Given the description of an element on the screen output the (x, y) to click on. 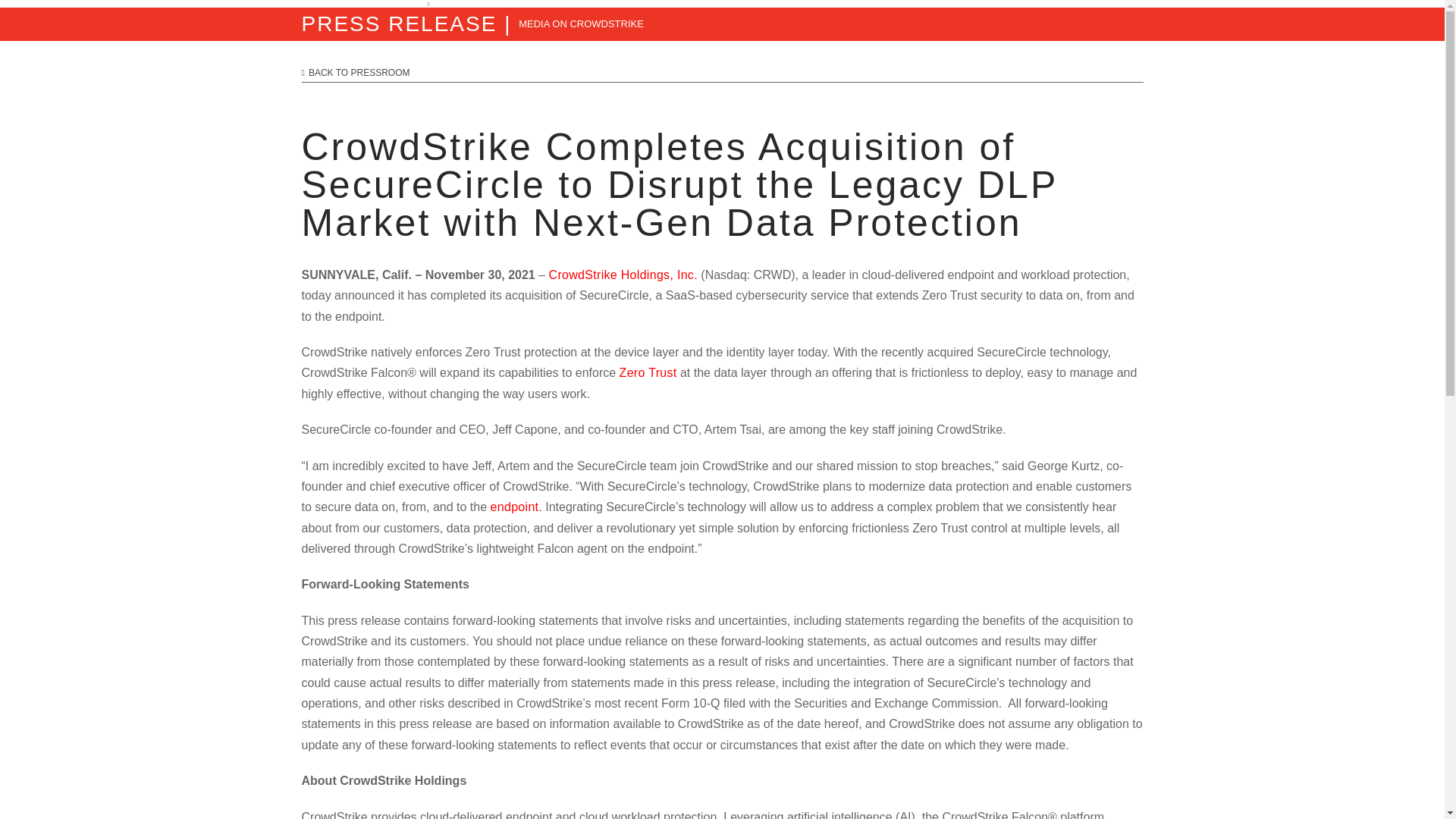
endpoint (514, 506)
Zero Trust (648, 372)
BACK TO PRESSROOM (721, 72)
CrowdStrike Holdings, Inc. (622, 274)
